Given the description of an element on the screen output the (x, y) to click on. 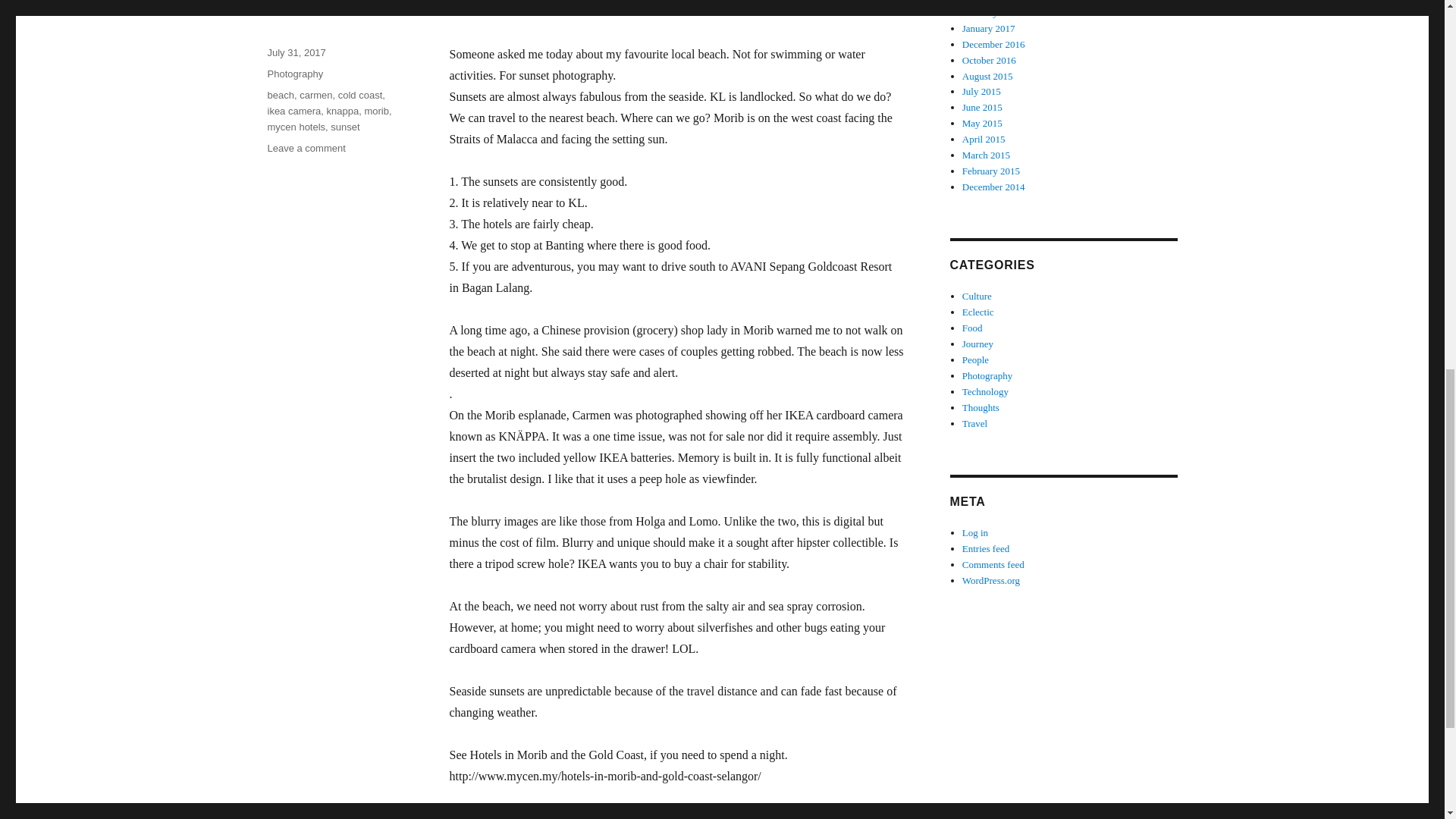
August 2015 (987, 75)
Photography (294, 73)
cold coast (359, 94)
carmen (315, 94)
December 2016 (993, 43)
January 2017 (988, 28)
March 2017 (986, 1)
February 2017 (991, 12)
beach (280, 94)
knappa (342, 111)
October 2016 (989, 60)
July 31, 2017 (295, 52)
ikea camera (293, 111)
morib (376, 111)
